Given the description of an element on the screen output the (x, y) to click on. 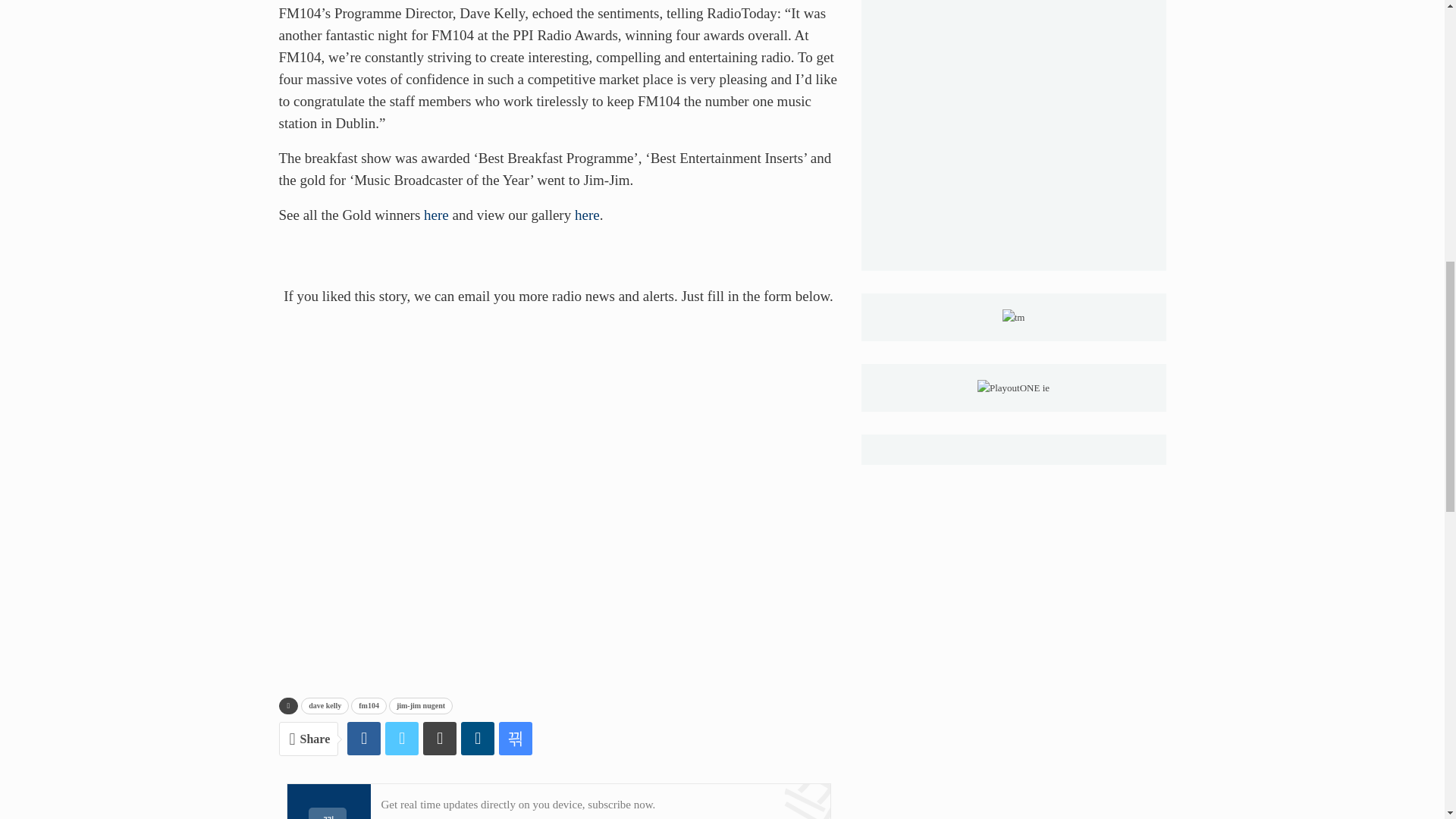
dave kelly (325, 705)
jim-jim nugent (420, 705)
here (587, 214)
In photos: The PPI Radio Awards 2013 (587, 214)
fm104 (368, 705)
here (435, 214)
